Given the description of an element on the screen output the (x, y) to click on. 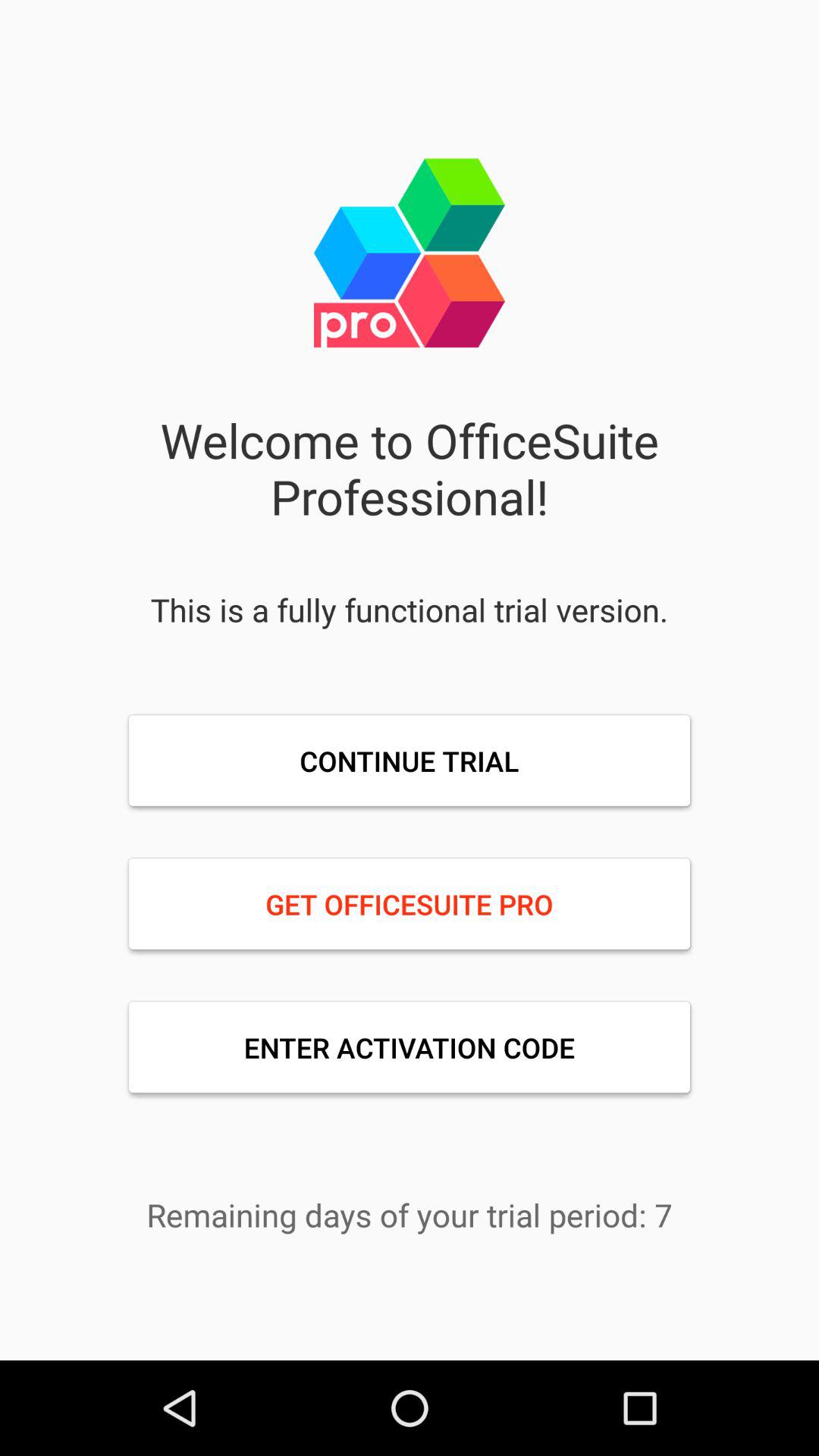
select item below this is a (409, 760)
